Given the description of an element on the screen output the (x, y) to click on. 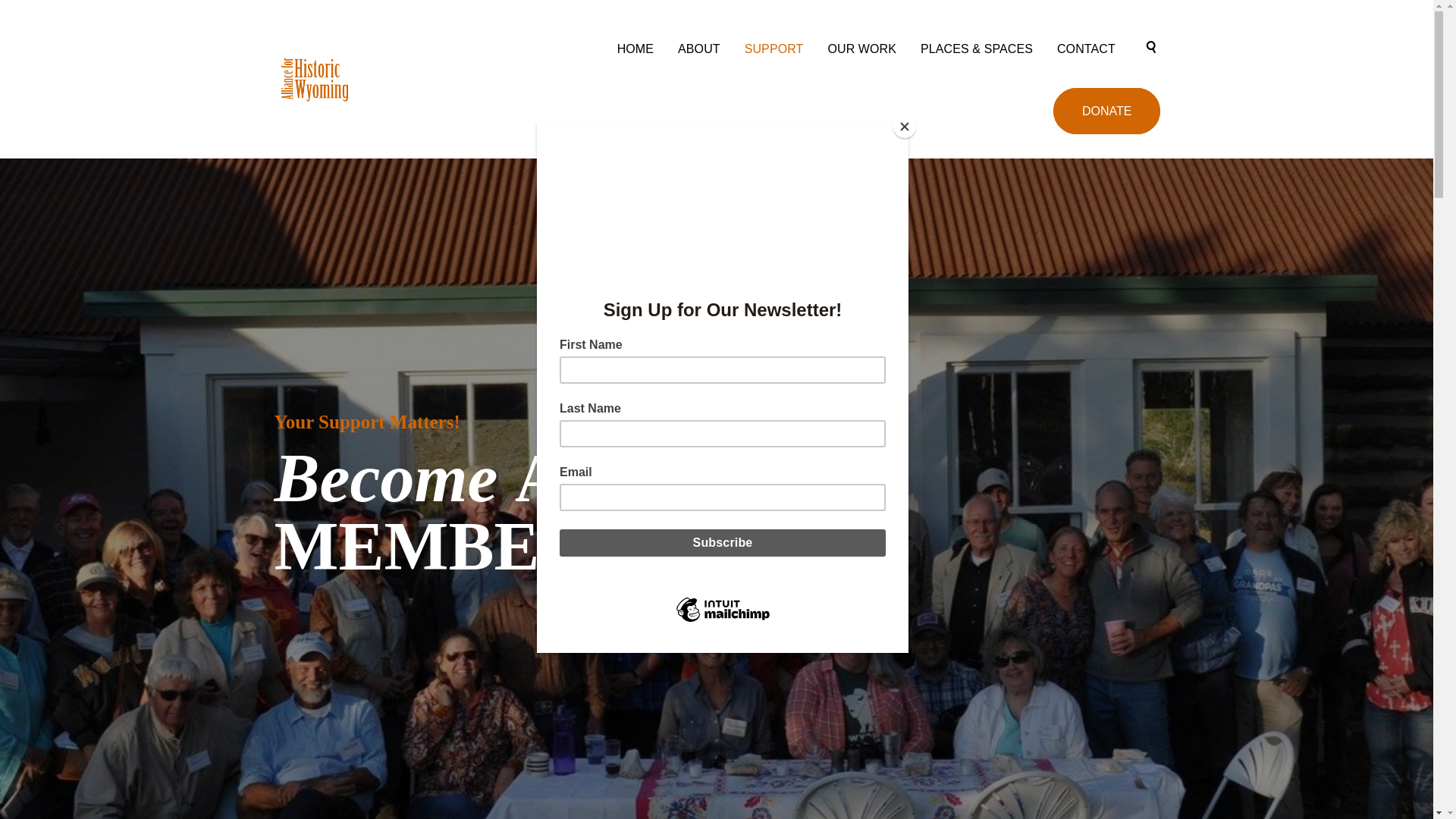
CONTACT (1085, 49)
OUR WORK (861, 49)
DONATE (1106, 111)
SUPPORT (773, 49)
HOME (635, 49)
ABOUT (698, 49)
